Given the description of an element on the screen output the (x, y) to click on. 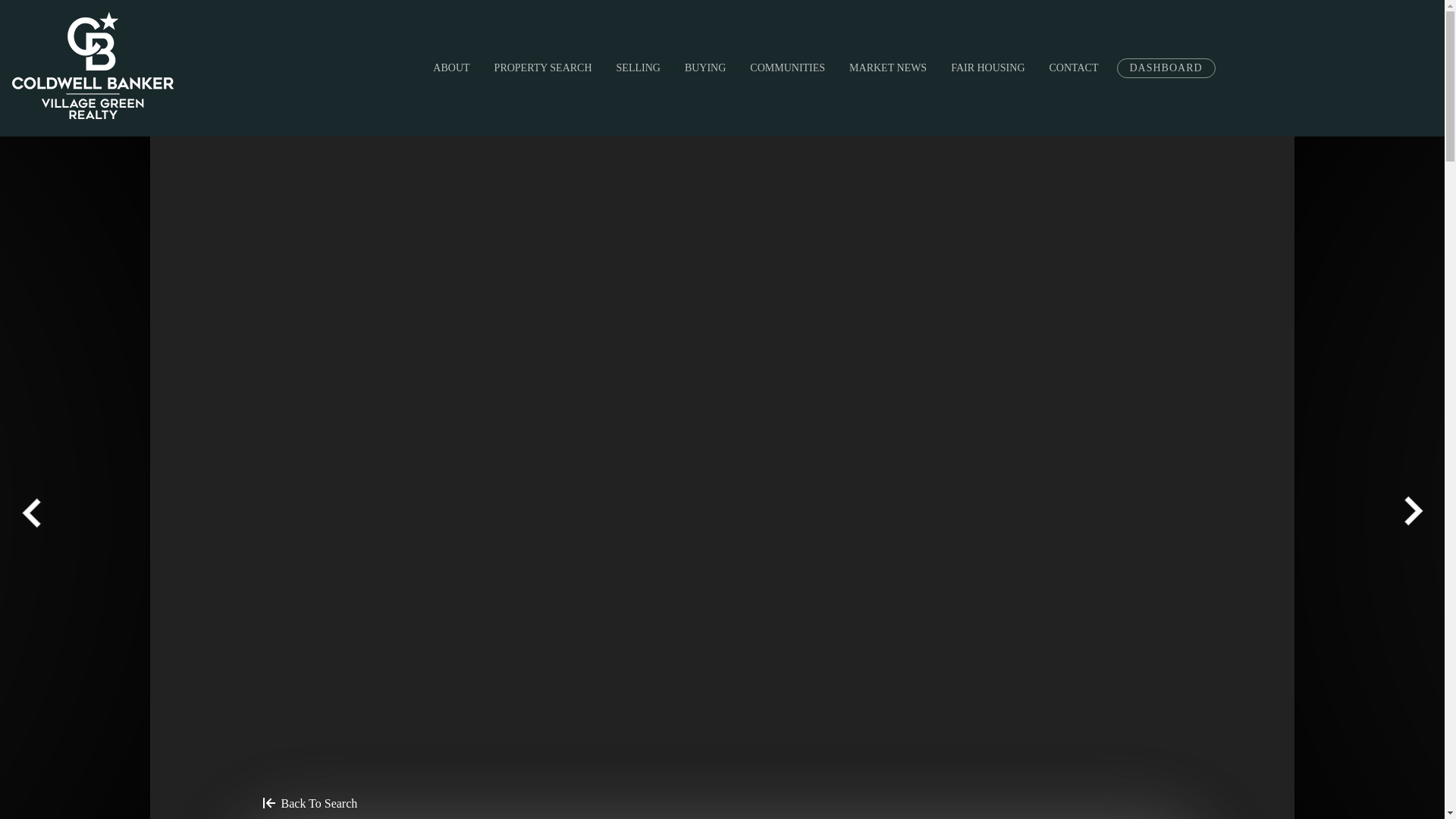
BUYING (705, 67)
ABOUT (450, 67)
COMMUNITIES (787, 67)
Opens and Closes My Account (1165, 67)
PROPERTY SEARCH (542, 67)
Site Logo (92, 65)
SELLING (638, 67)
